Given the description of an element on the screen output the (x, y) to click on. 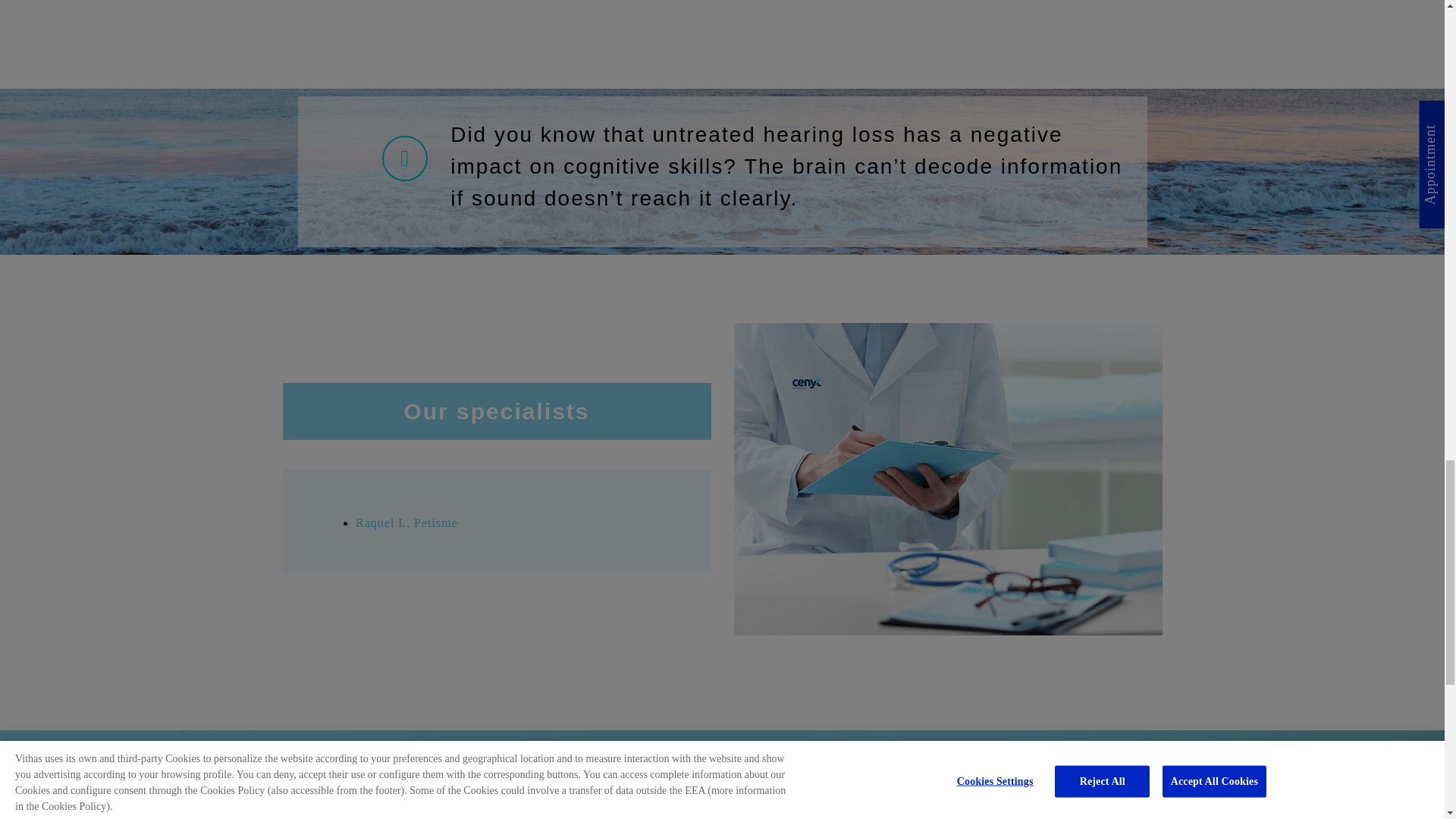
Raquel L. Petisme (406, 522)
resultados seguimiento del embarazo semana 12 (947, 478)
